Given the description of an element on the screen output the (x, y) to click on. 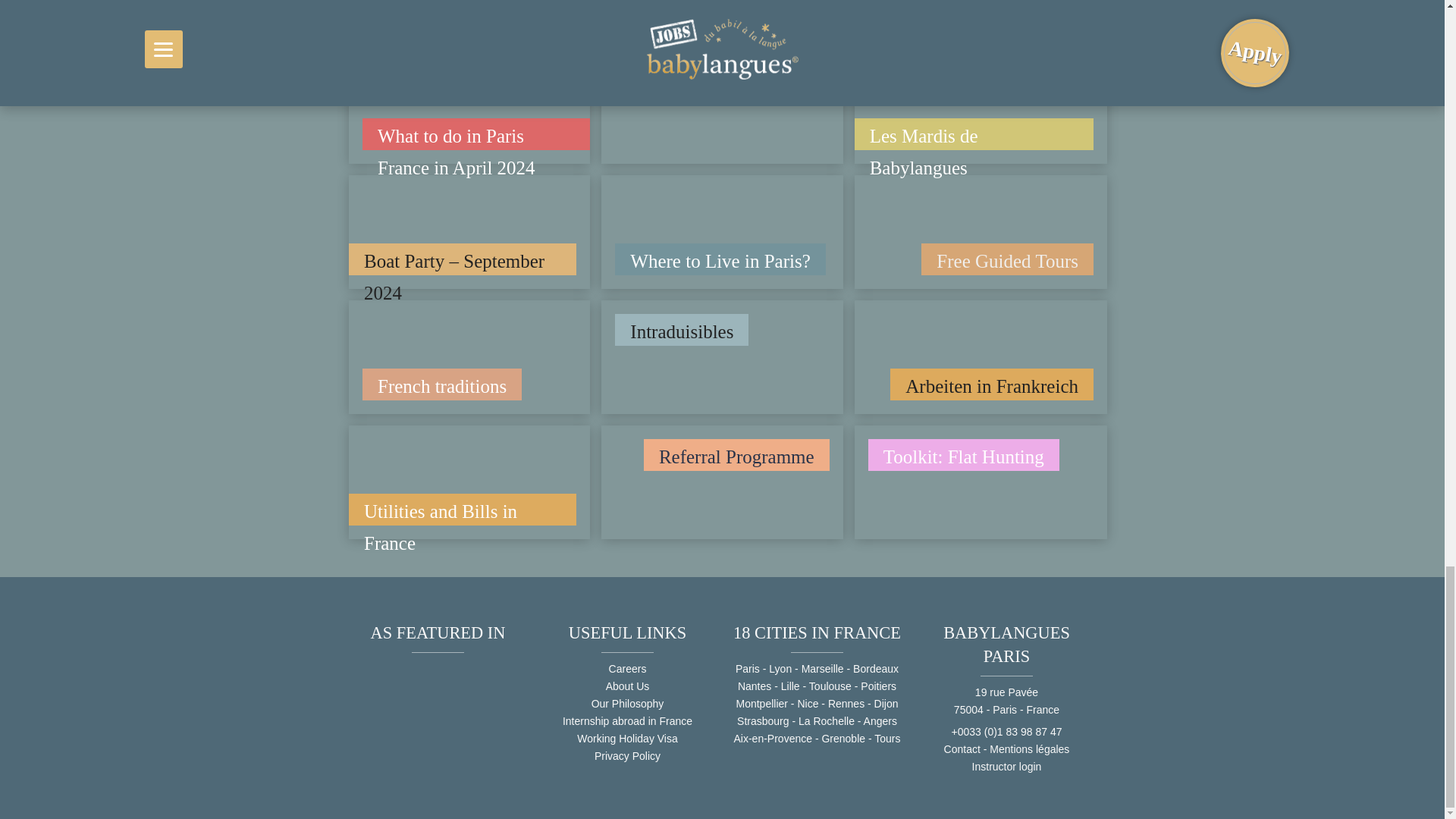
Babylangues in the media: videos and articles... (416, 725)
Babylangues in the media: videos and articles... (372, 725)
Babylangues in the media: videos and articles... (503, 725)
Babylangues in the media: videos and articles... (459, 725)
pinterest (427, 7)
twitter (462, 7)
linkedin (498, 7)
facebook (390, 7)
